Given the description of an element on the screen output the (x, y) to click on. 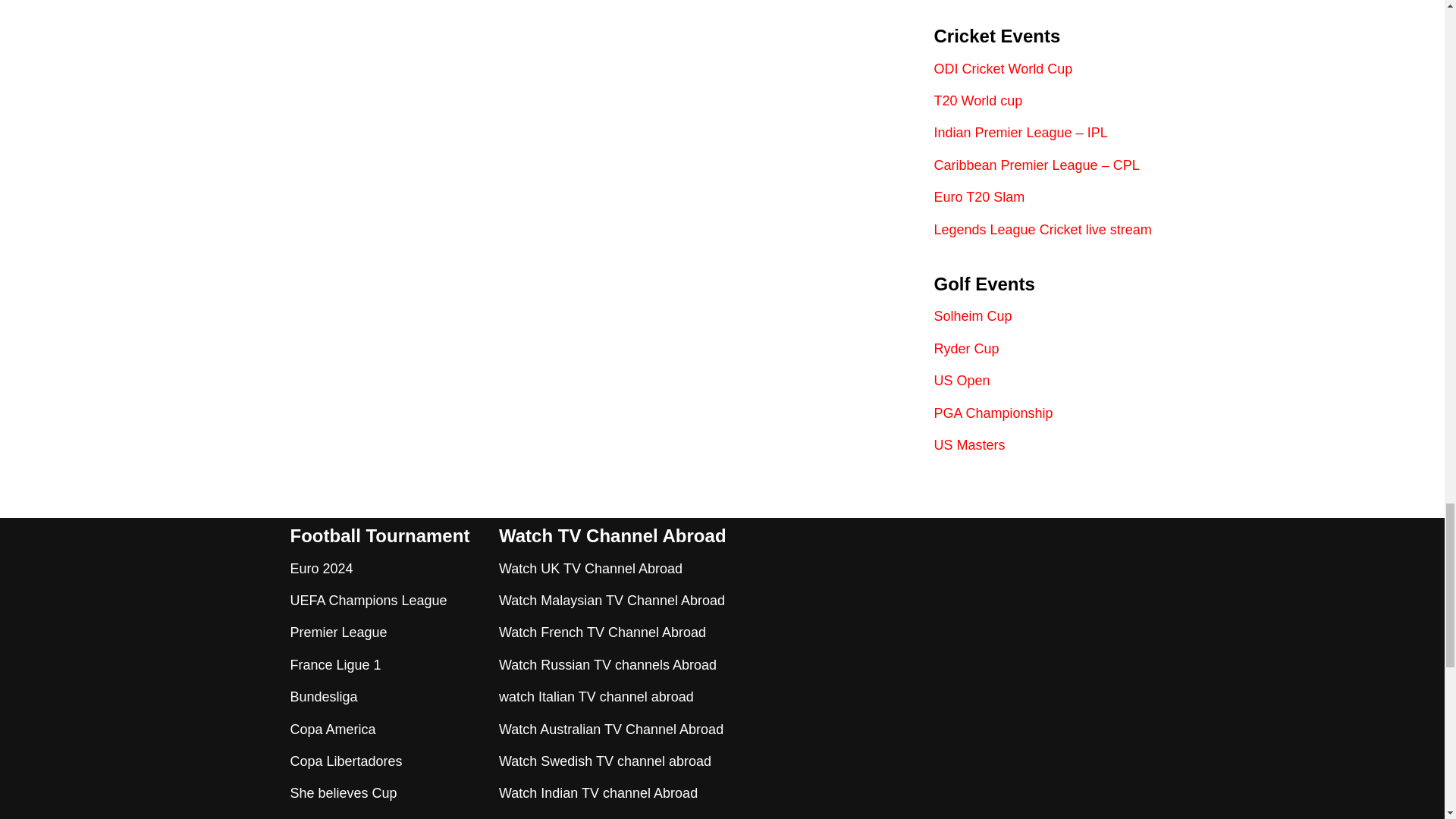
ODI Cricket World Cup live stream (1003, 68)
